Given the description of an element on the screen output the (x, y) to click on. 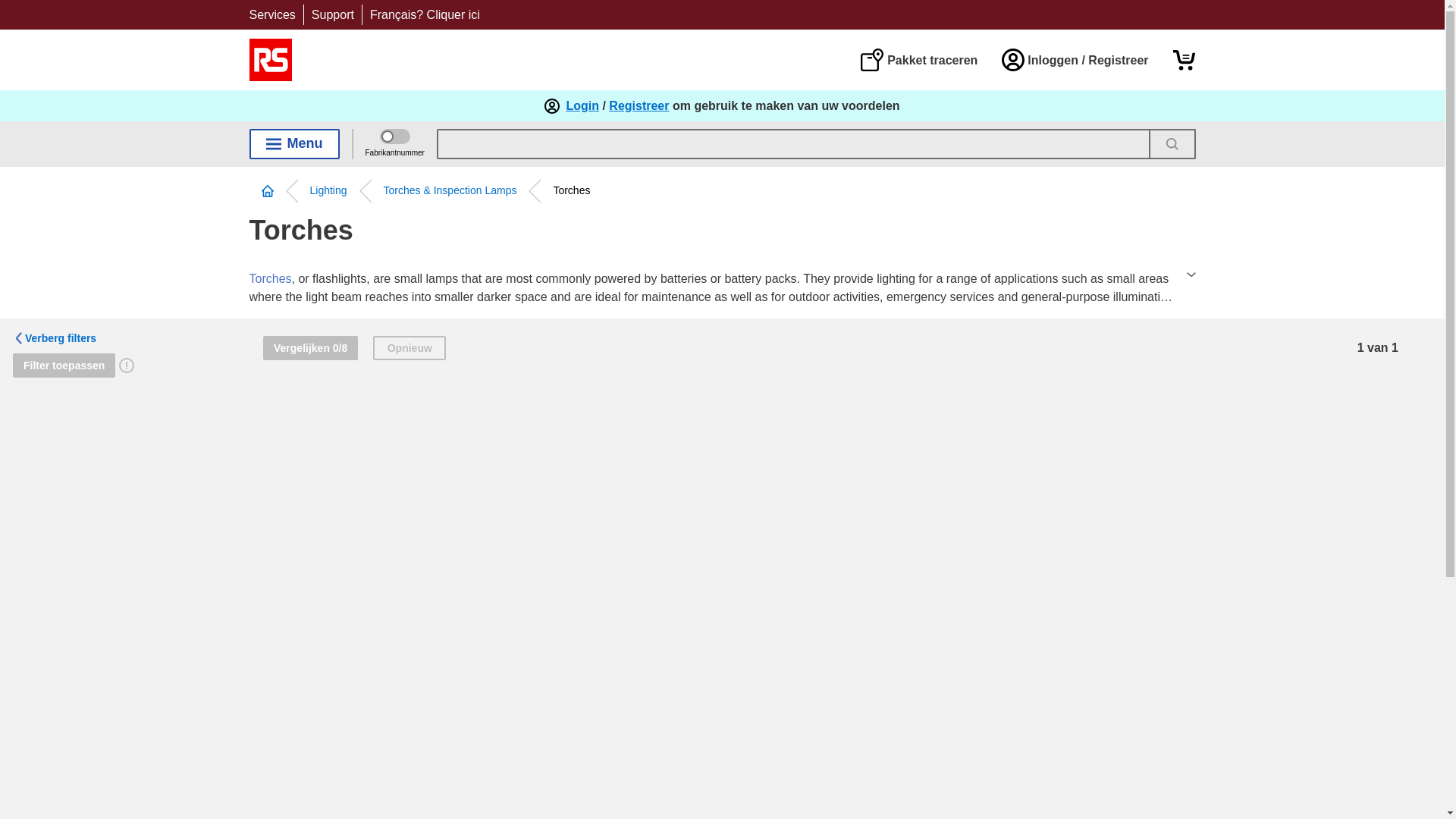
Menu (293, 143)
Login (582, 105)
Pakket traceren (918, 59)
Support (332, 14)
Registreer (638, 105)
Services (271, 14)
